Given the description of an element on the screen output the (x, y) to click on. 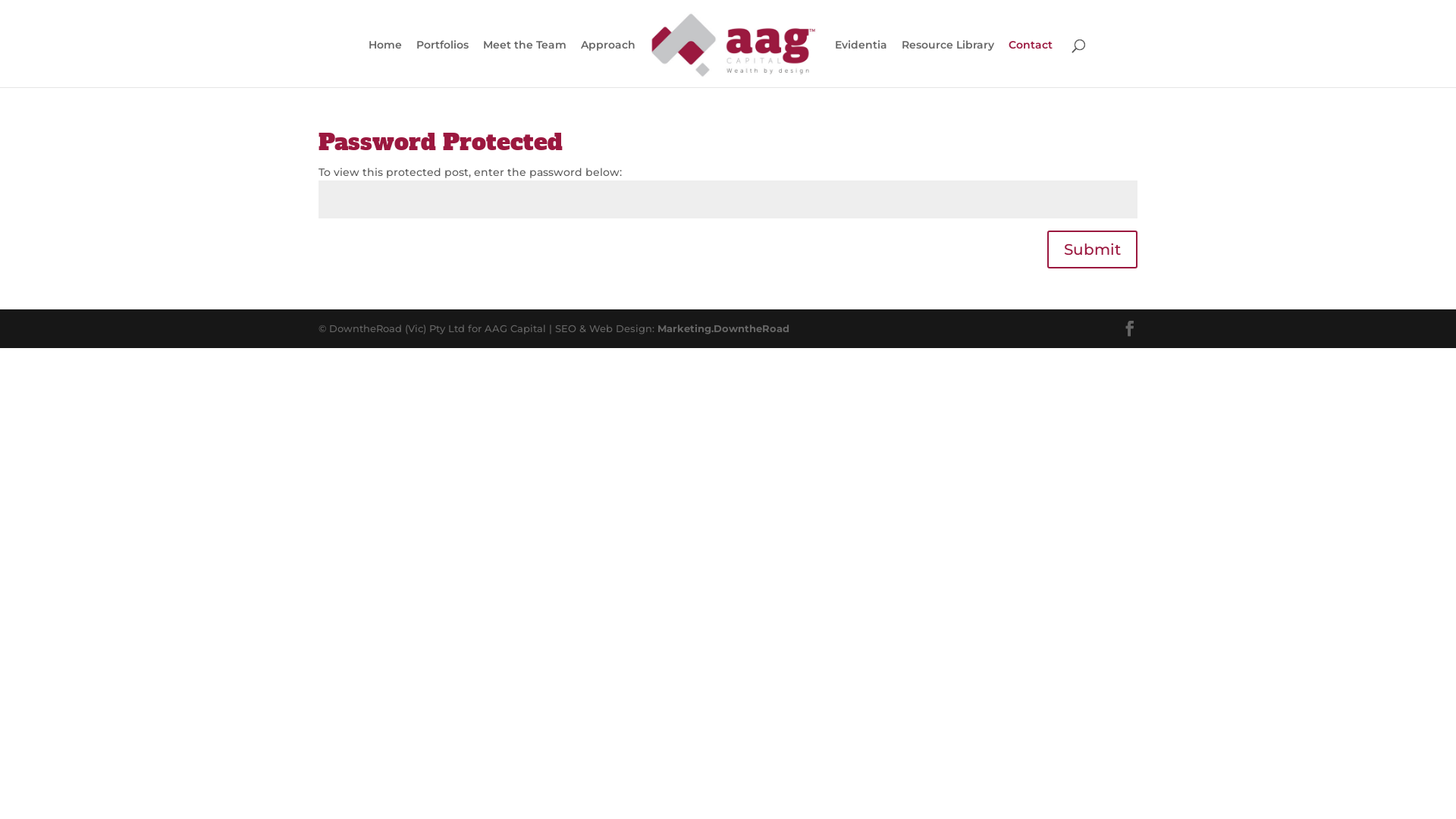
Submit Element type: text (1092, 249)
Home Element type: text (384, 63)
Approach Element type: text (607, 63)
Meet the Team Element type: text (524, 63)
Contact Element type: text (1030, 63)
Resource Library Element type: text (947, 63)
Portfolios Element type: text (442, 63)
Evidentia Element type: text (860, 63)
Marketing.DowntheRoad Element type: text (723, 328)
